Given the description of an element on the screen output the (x, y) to click on. 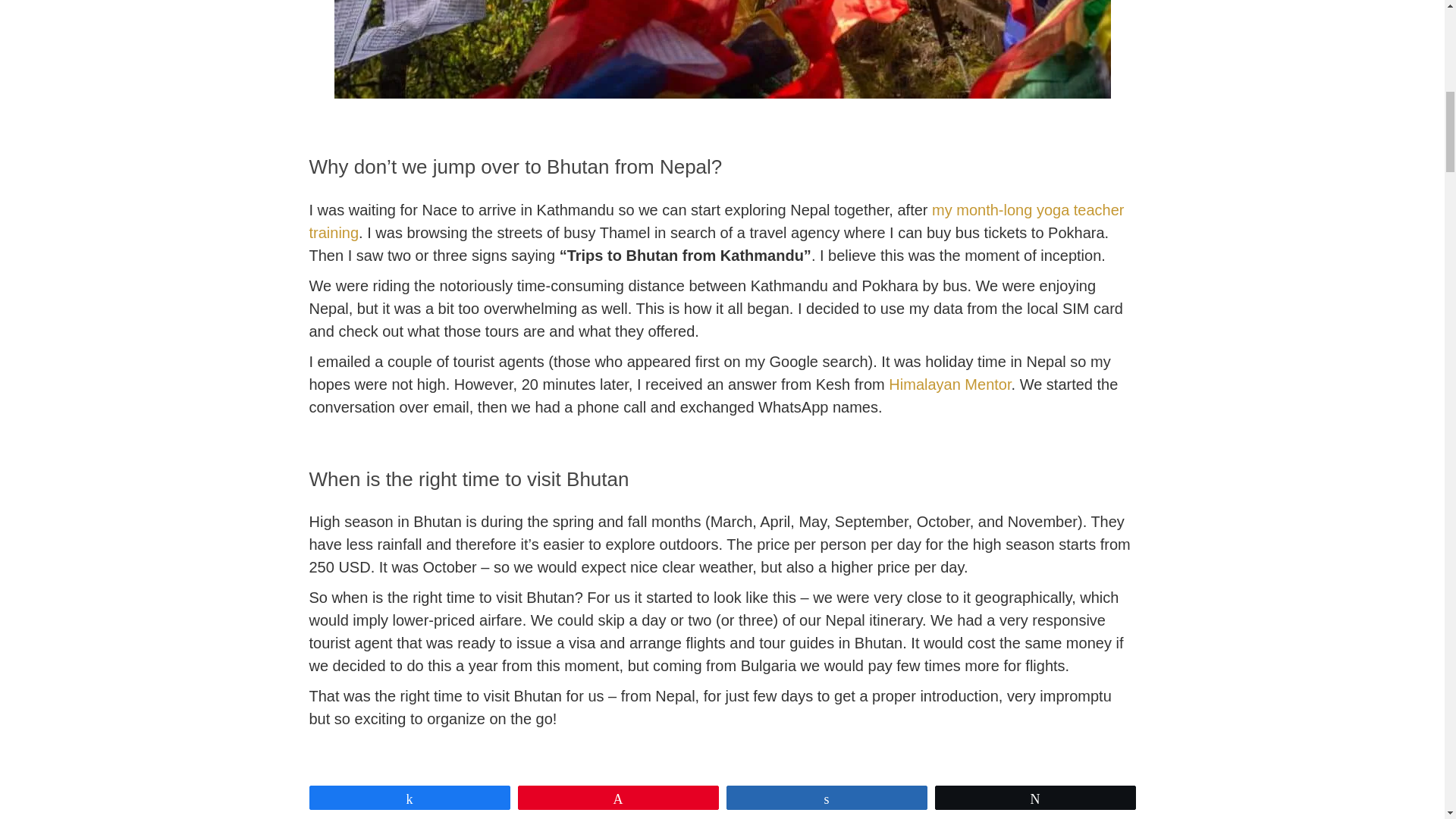
my month-long yoga teacher training (716, 220)
Himalayan Mentor (949, 384)
